Given the description of an element on the screen output the (x, y) to click on. 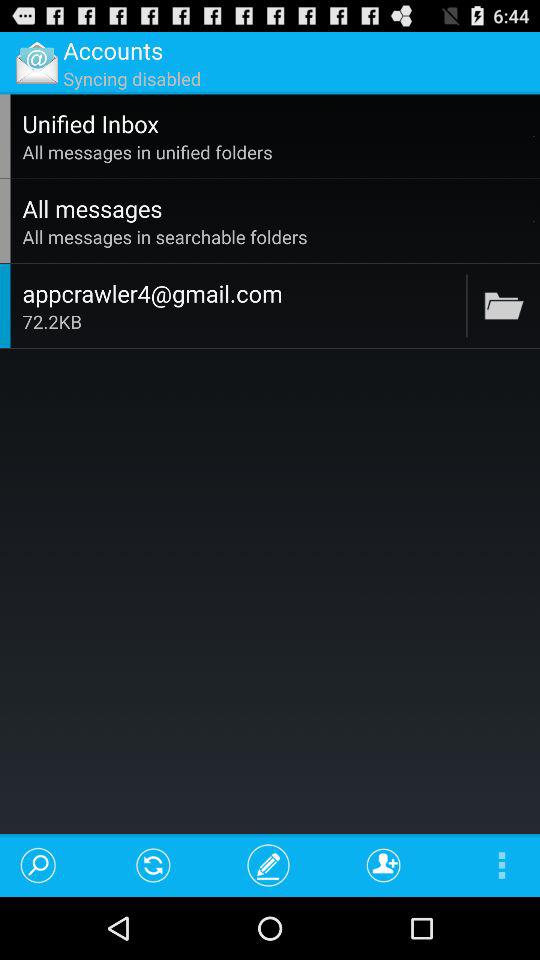
flip to 72.2kb icon (241, 321)
